Given the description of an element on the screen output the (x, y) to click on. 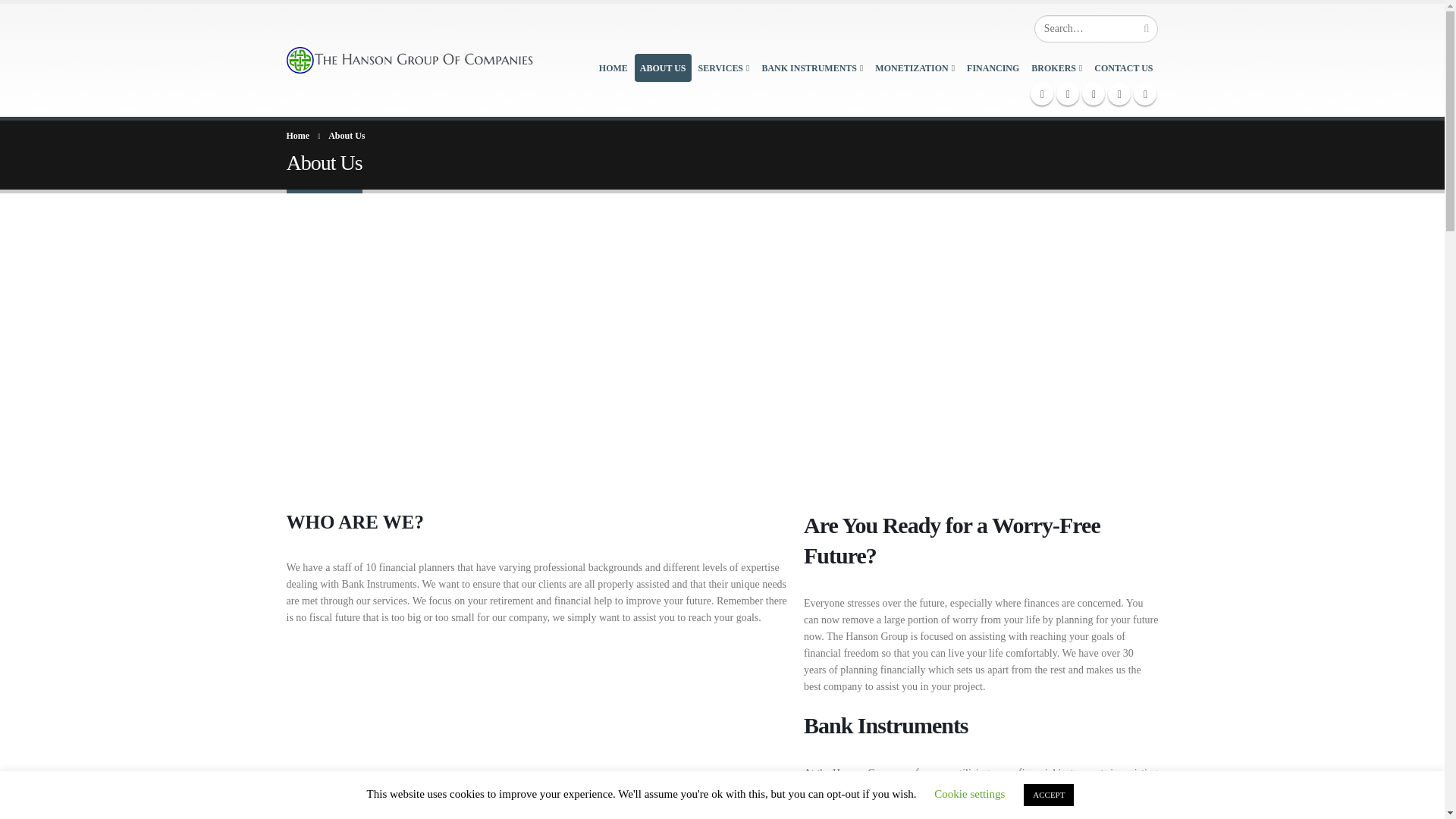
FINANCING (992, 67)
Google Plus (1145, 93)
Twitter (1067, 93)
Facebook (1041, 93)
HOME (613, 67)
Pinterest (1093, 93)
LinkedIn (1119, 93)
Search (1146, 28)
ABOUT US (662, 67)
